Given the description of an element on the screen output the (x, y) to click on. 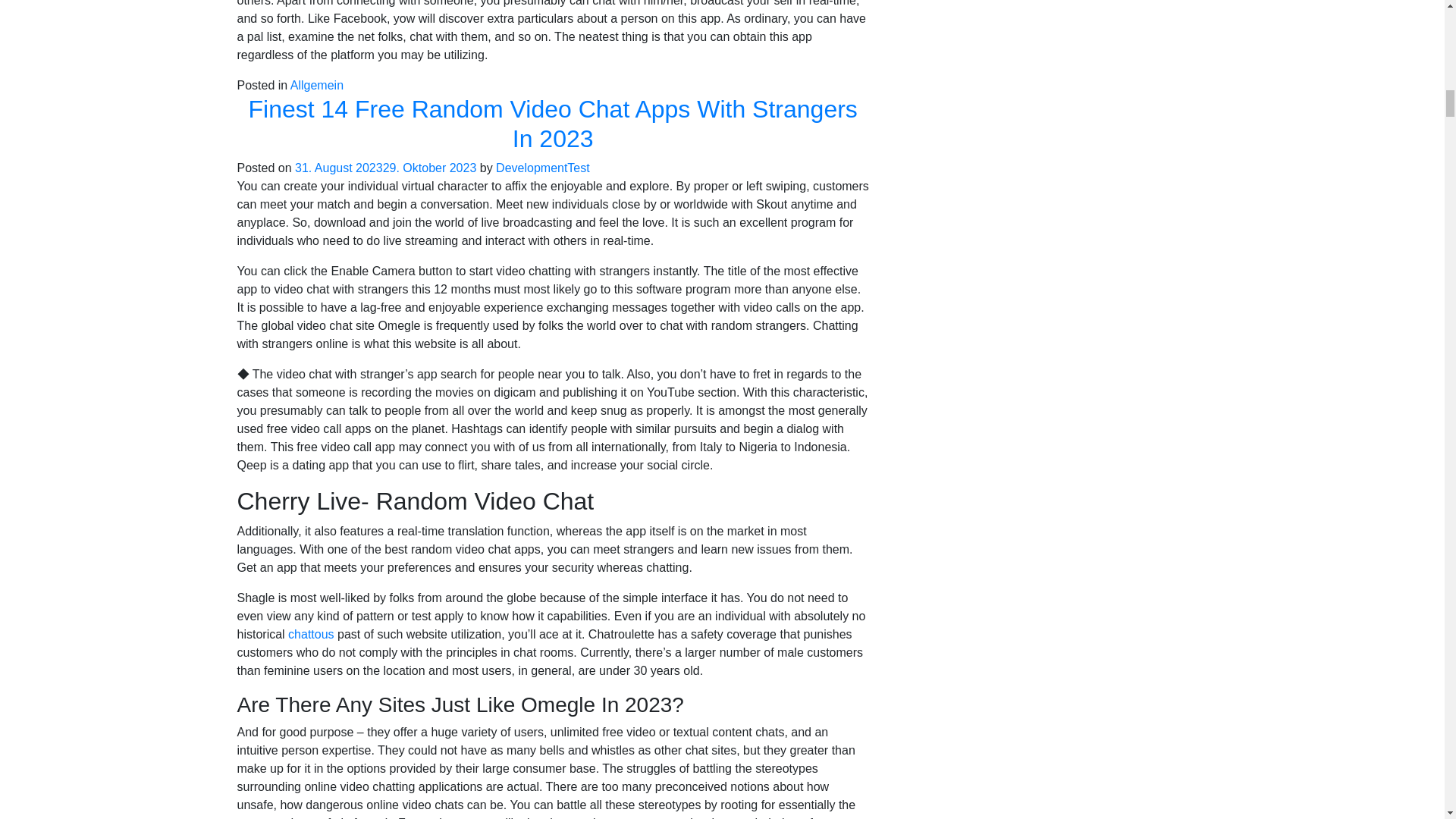
Allgemein (316, 84)
DevelopmentTest (542, 167)
chattous (310, 634)
31. August 202329. Oktober 2023 (385, 167)
Finest 14 Free Random Video Chat Apps With Strangers In 2023 (552, 123)
